Given the description of an element on the screen output the (x, y) to click on. 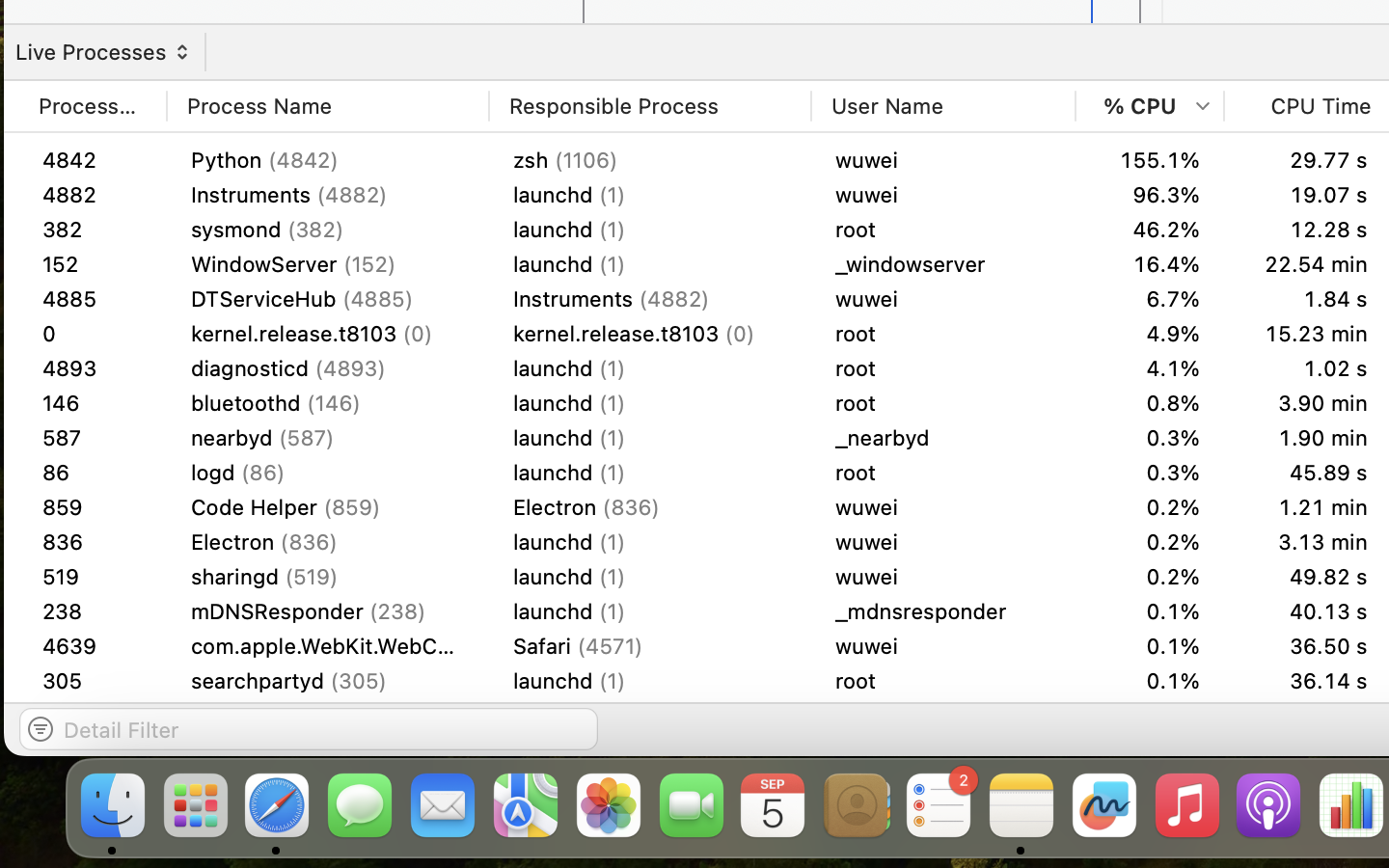
_nearbyd Element type: AXStaticText (943, 472)
Safari (4571) Element type: AXStaticText (649, 645)
3.90 min Element type: AXStaticText (1307, 437)
_locationd Element type: AXStaticText (943, 576)
WindowManager (488) Element type: AXStaticText (327, 437)
